Given the description of an element on the screen output the (x, y) to click on. 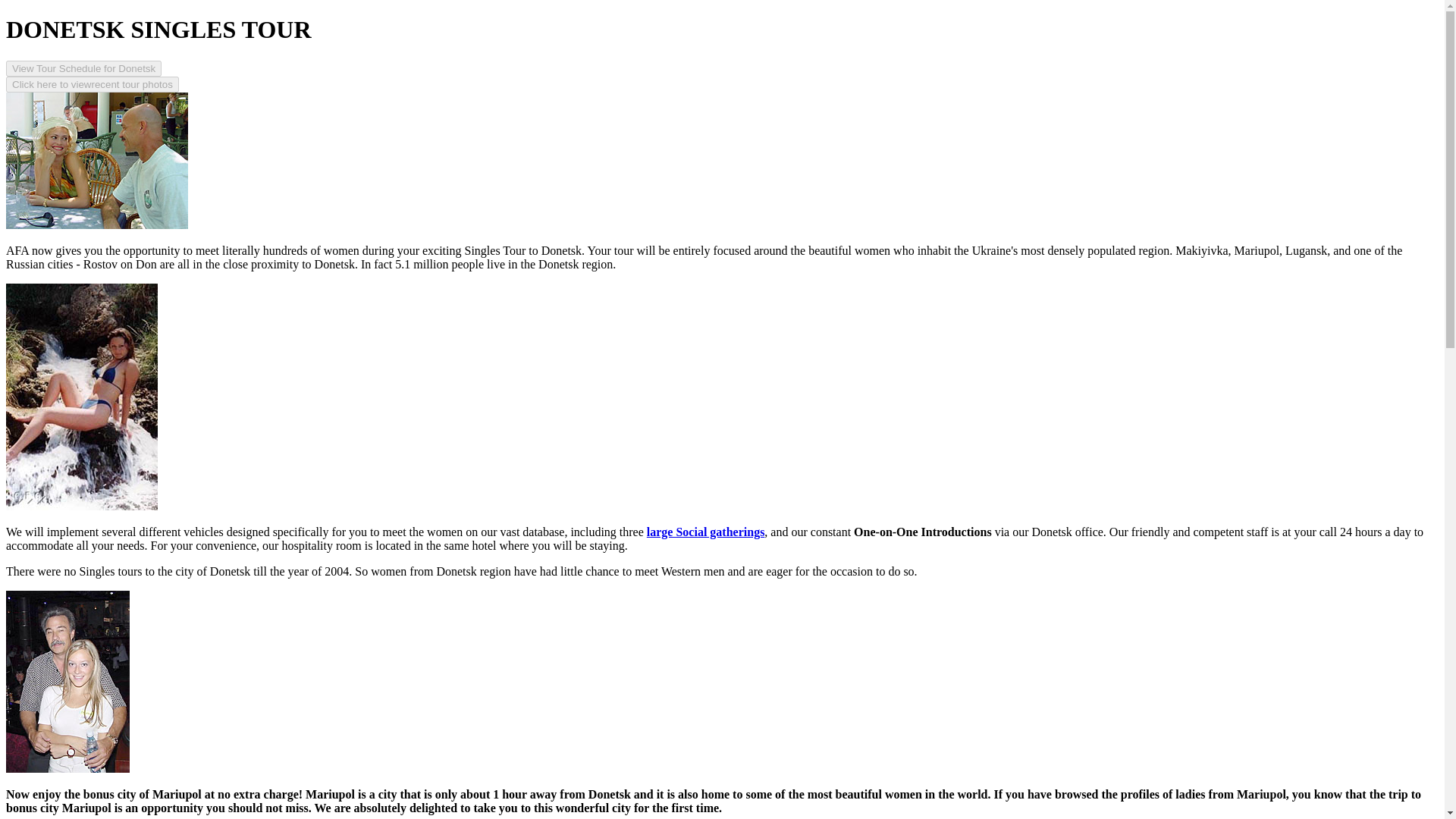
View Tour Schedule for Donetsk (83, 68)
large Social gatherings (705, 531)
Click here to viewrecent tour photos (92, 83)
Click here to viewrecent tour photos (92, 84)
View Tour Schedule for Donetsk (83, 67)
